Given the description of an element on the screen output the (x, y) to click on. 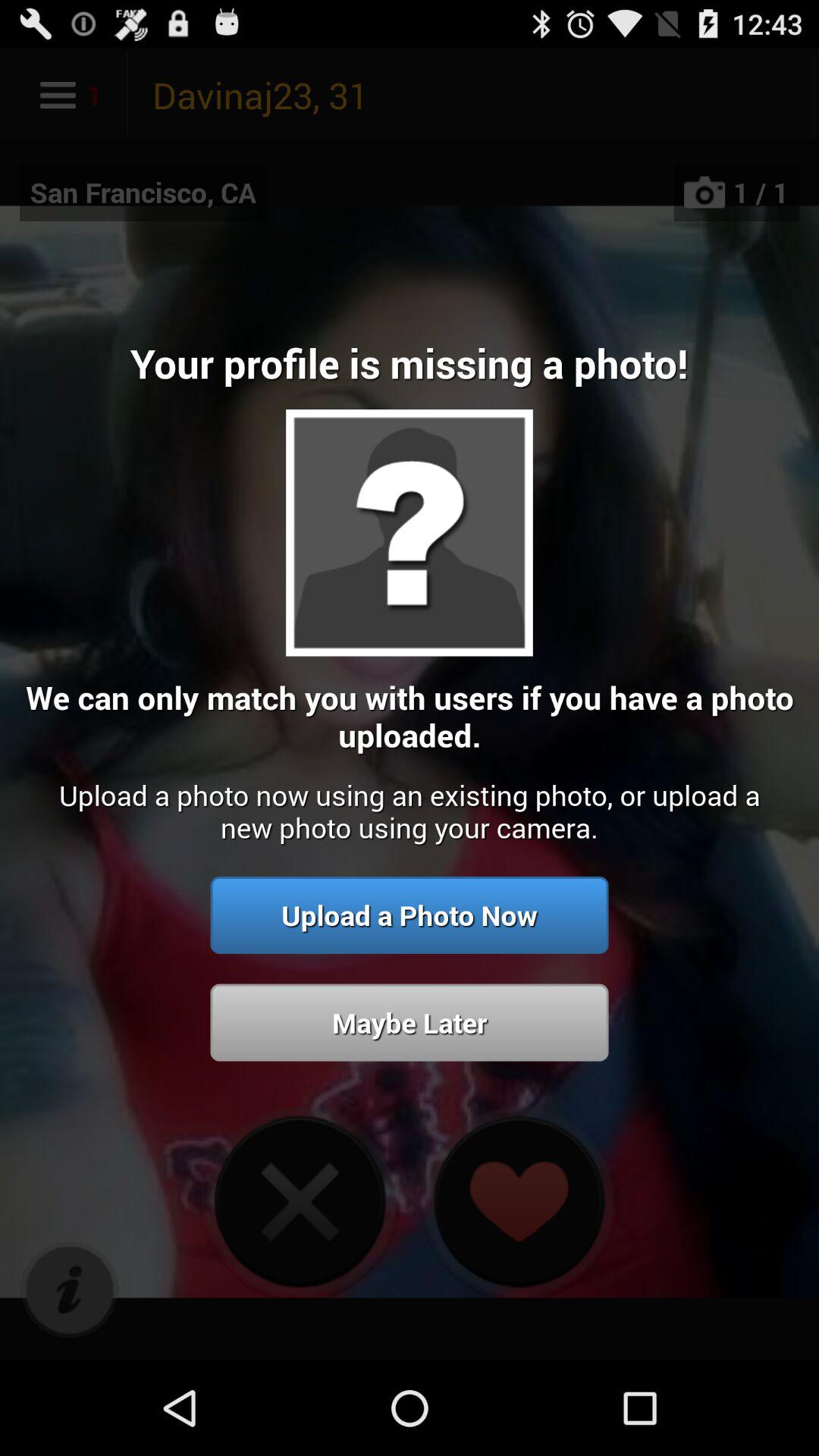
close the profile (299, 1200)
